Given the description of an element on the screen output the (x, y) to click on. 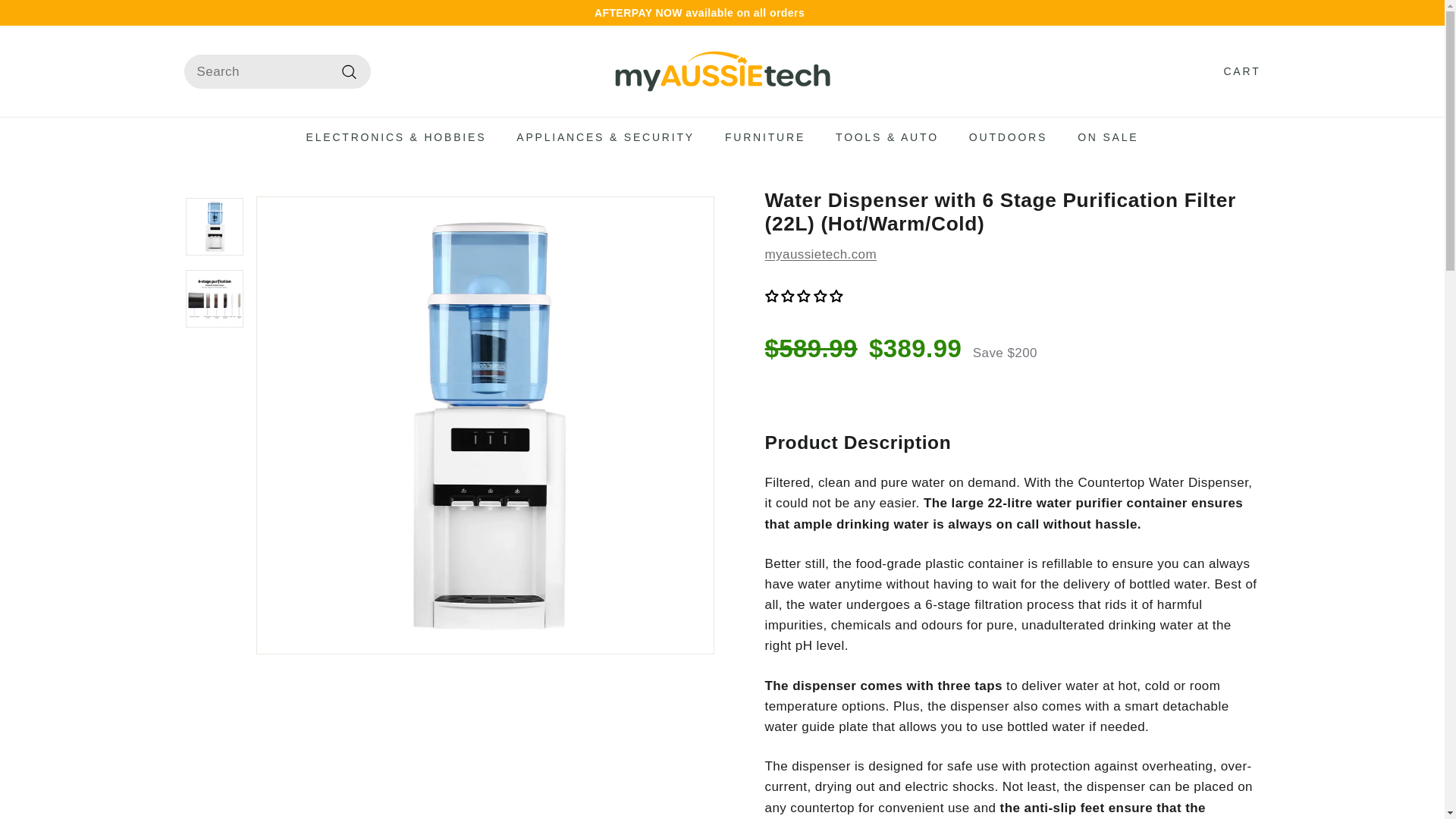
myaussietech.com on Instagram (1226, 12)
myaussietech.com on YouTube (1240, 12)
myaussietech.com on TikTok (1256, 12)
myaussietech.com on Facebook (1233, 12)
YouTube (1240, 12)
myaussietech.com on Pinterest (1248, 12)
TikTok (1256, 12)
myaussietech.com (820, 254)
CART (1235, 70)
